Given the description of an element on the screen output the (x, y) to click on. 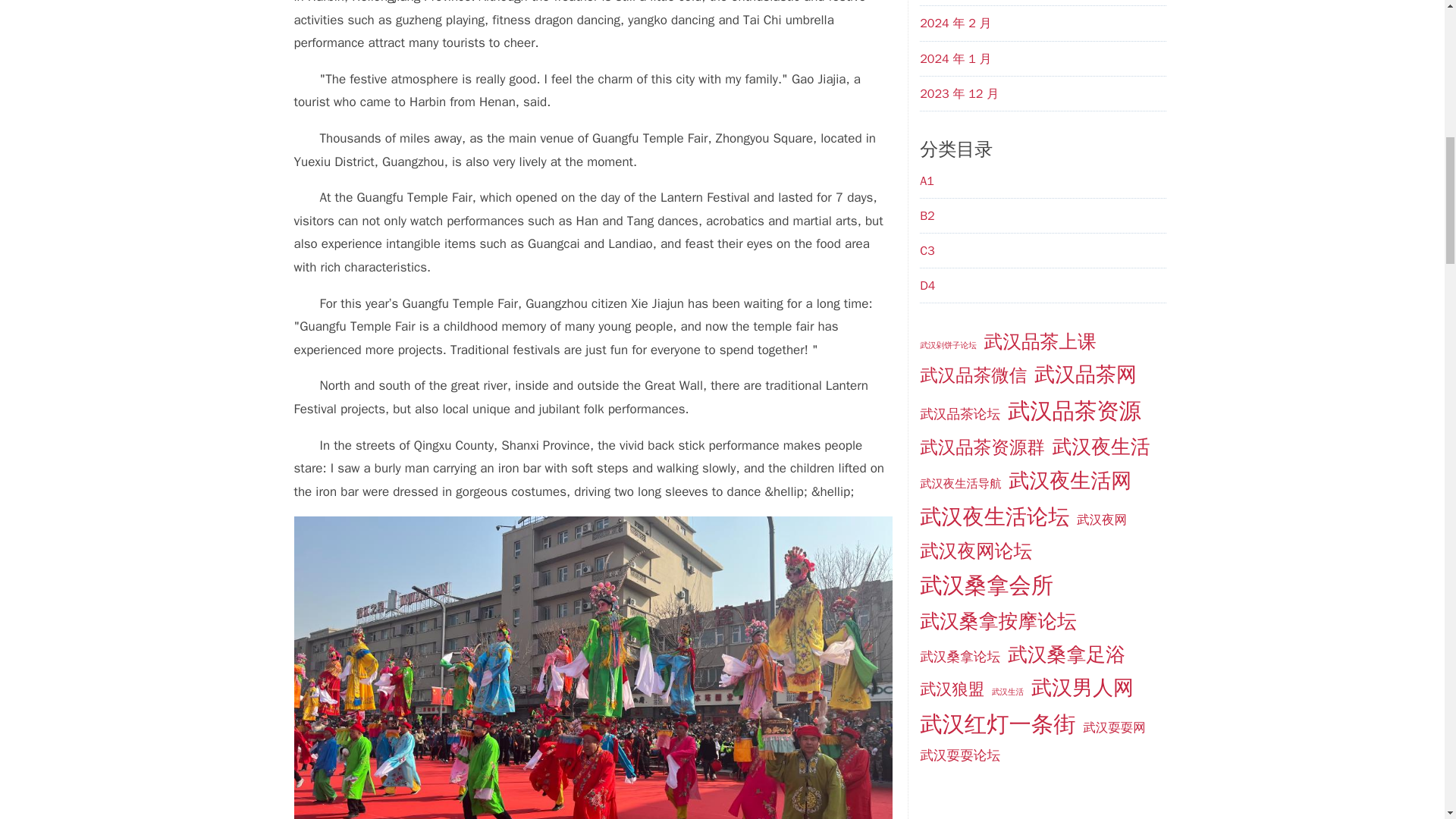
A1 (927, 181)
B2 (927, 215)
C3 (927, 250)
D4 (927, 285)
